Given the description of an element on the screen output the (x, y) to click on. 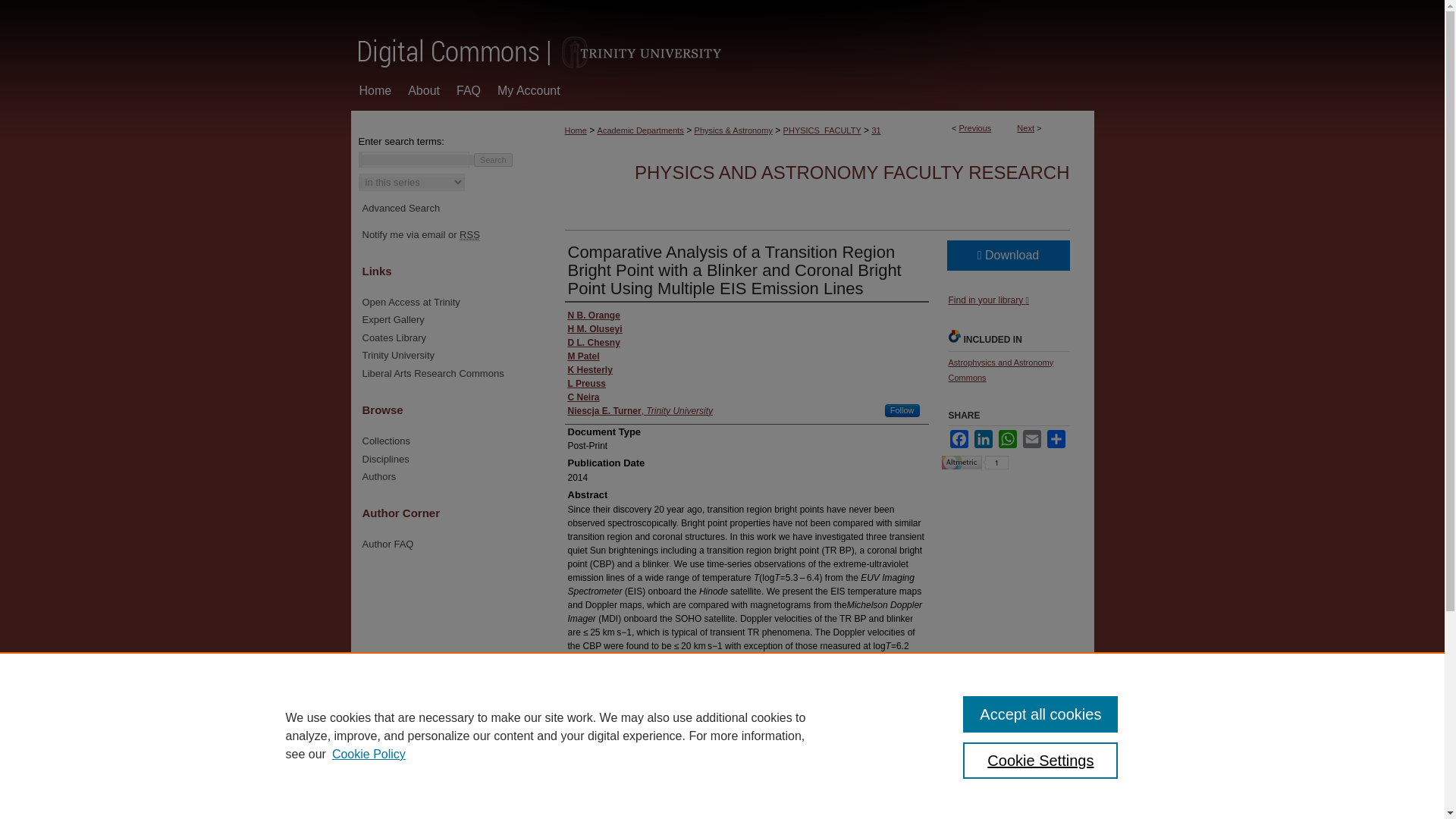
M Patel (582, 356)
About (423, 90)
H M. Oluseyi (594, 328)
Astrophysics and Astronomy Commons (999, 369)
Follow (902, 410)
Email or RSS Notifications (447, 234)
FAQ (468, 90)
About (423, 90)
Niescja E. Turner, Trinity University (640, 410)
Previous (975, 127)
My Account (529, 90)
K Hesterly (589, 369)
L Preuss (586, 383)
Home (374, 90)
Academic Departments (640, 130)
